Given the description of an element on the screen output the (x, y) to click on. 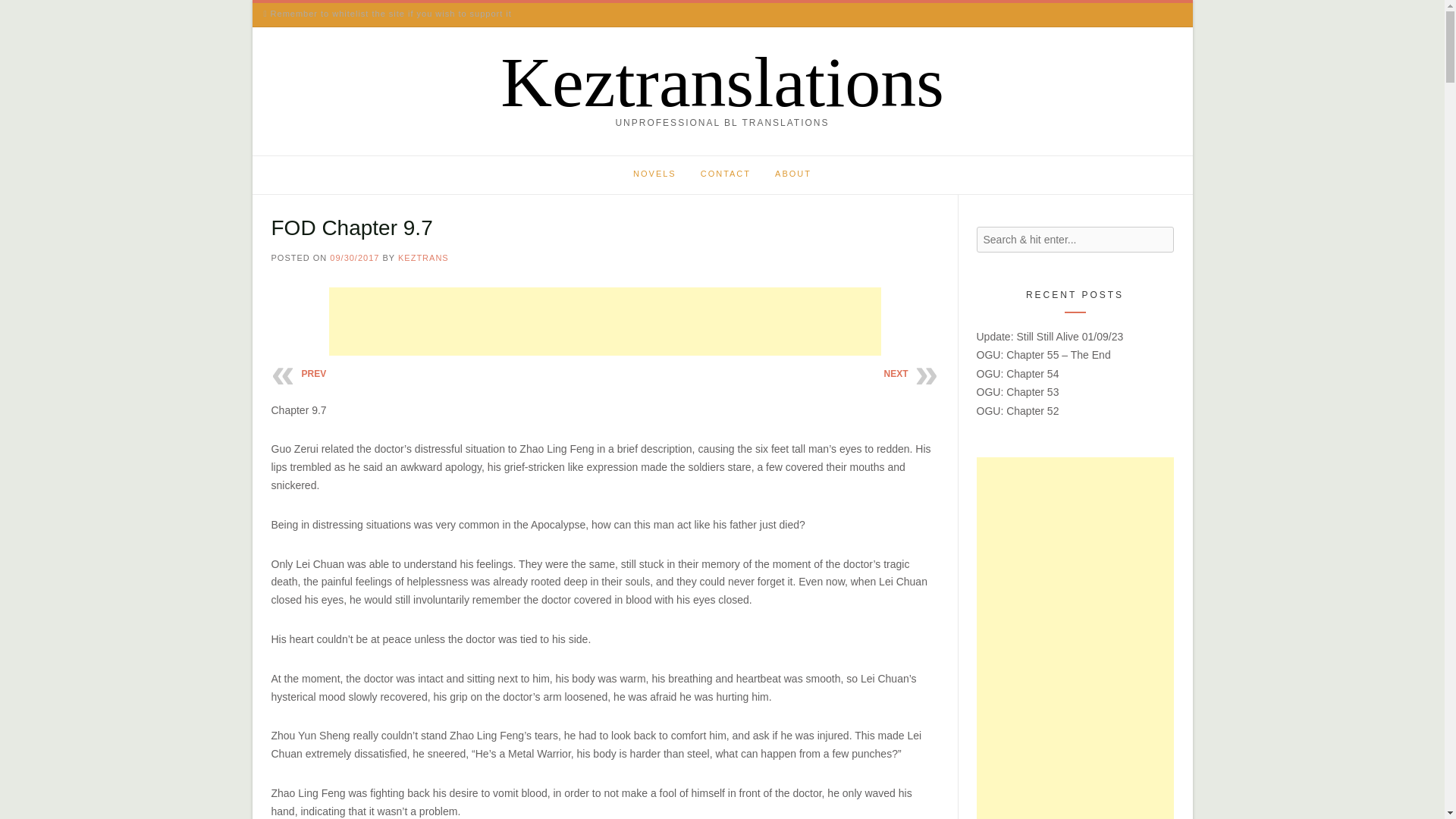
KEZTRANS (422, 257)
NOVELS (654, 174)
NEXT (895, 373)
Keztranslations (721, 81)
CONTACT (725, 174)
Keztranslations (721, 81)
PREV (313, 373)
ABOUT (793, 174)
